Given the description of an element on the screen output the (x, y) to click on. 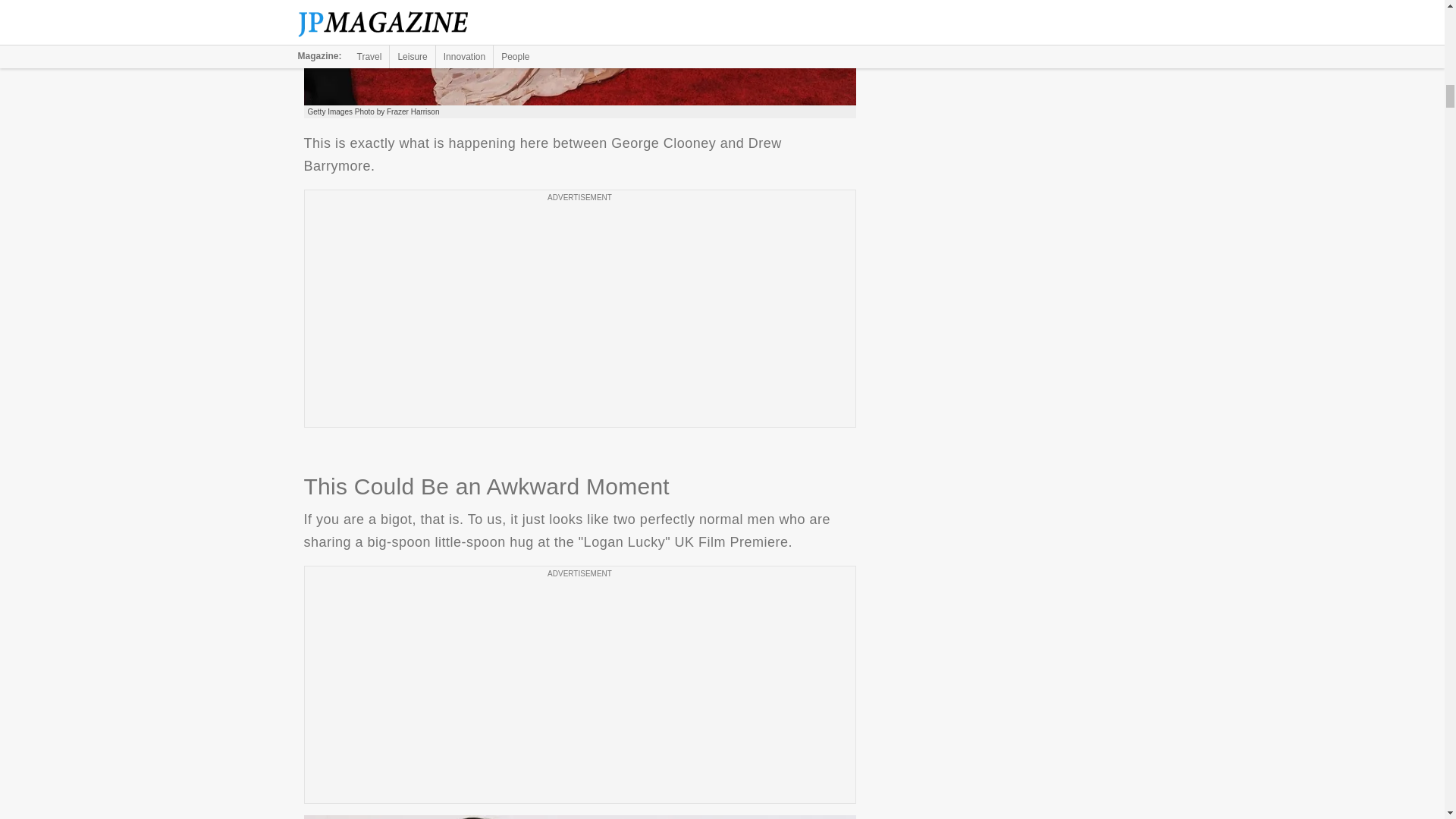
It's Fun to Be Tall (579, 52)
